Given the description of an element on the screen output the (x, y) to click on. 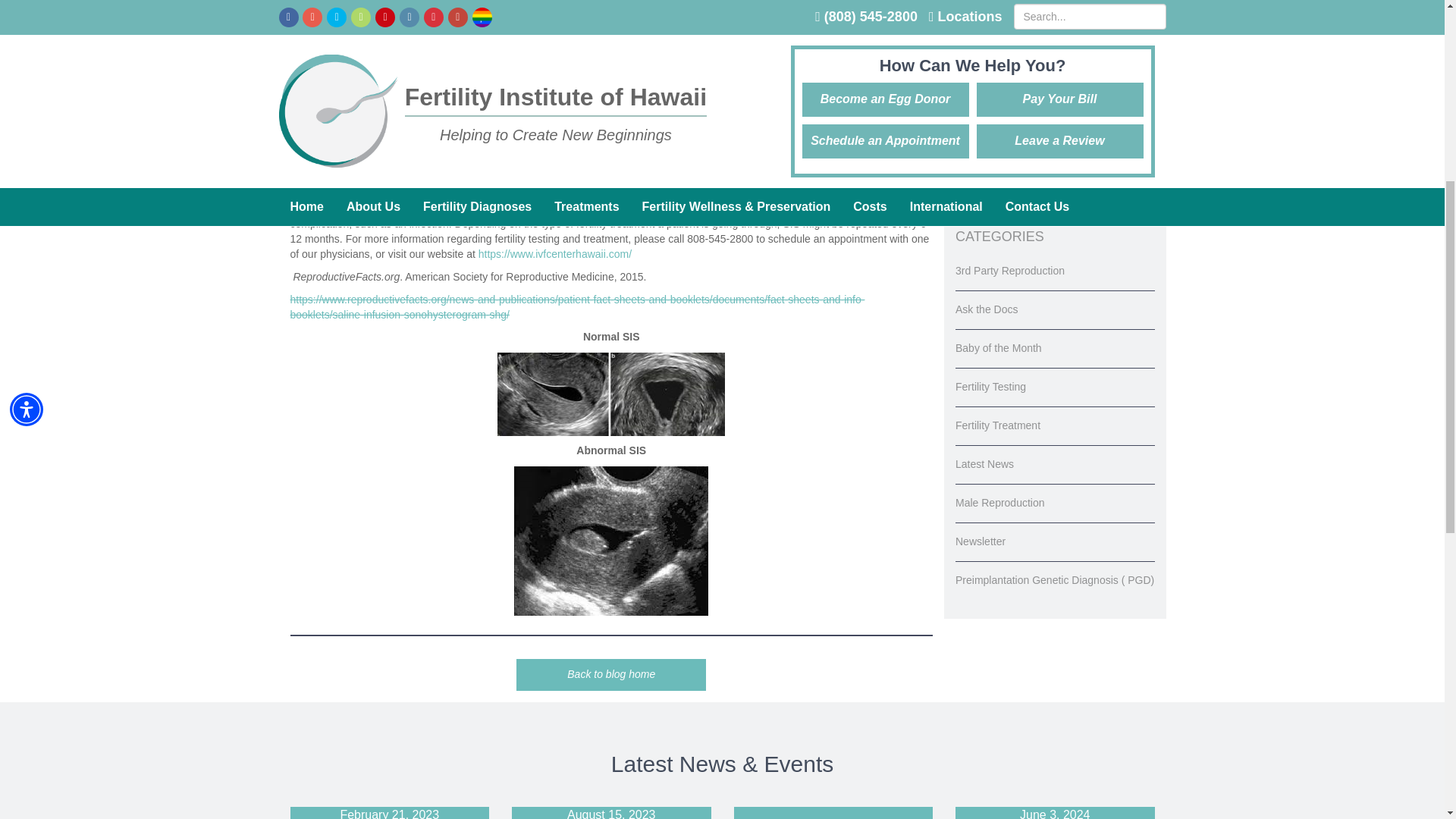
Accessibility Menu (26, 15)
